Given the description of an element on the screen output the (x, y) to click on. 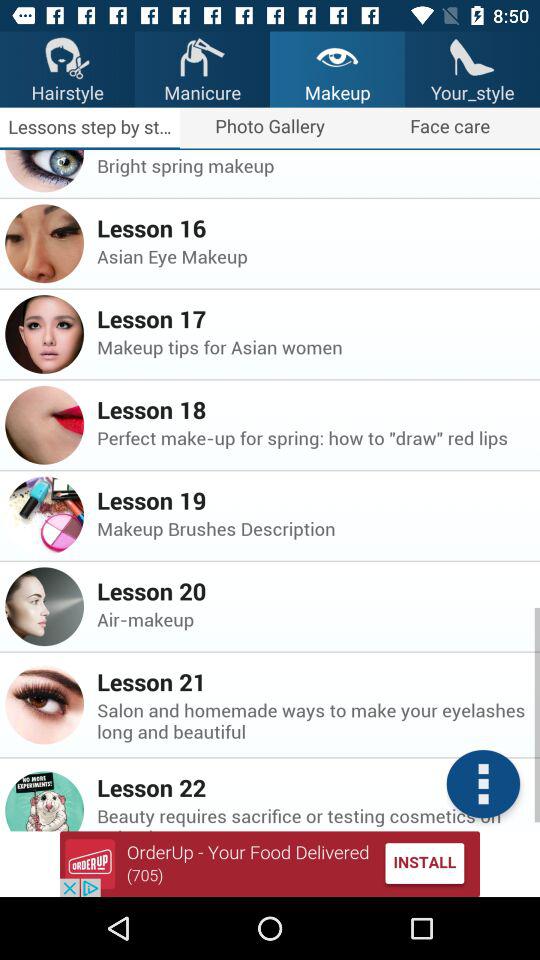
advatisment (270, 864)
